Given the description of an element on the screen output the (x, y) to click on. 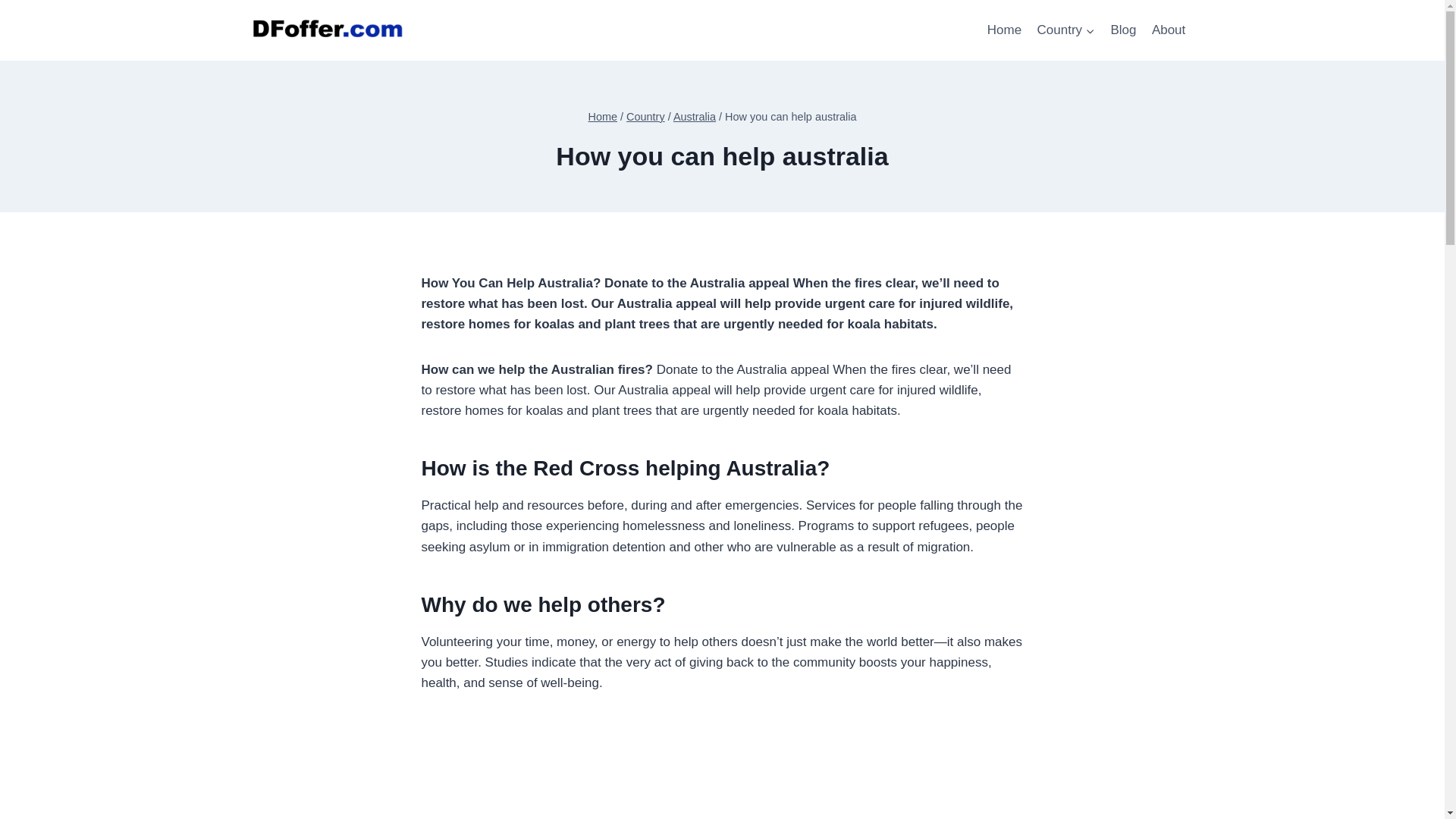
Country (1065, 30)
Home (602, 116)
Blog (1122, 30)
Country (645, 116)
Home (1004, 30)
Australia (694, 116)
About (1168, 30)
